Given the description of an element on the screen output the (x, y) to click on. 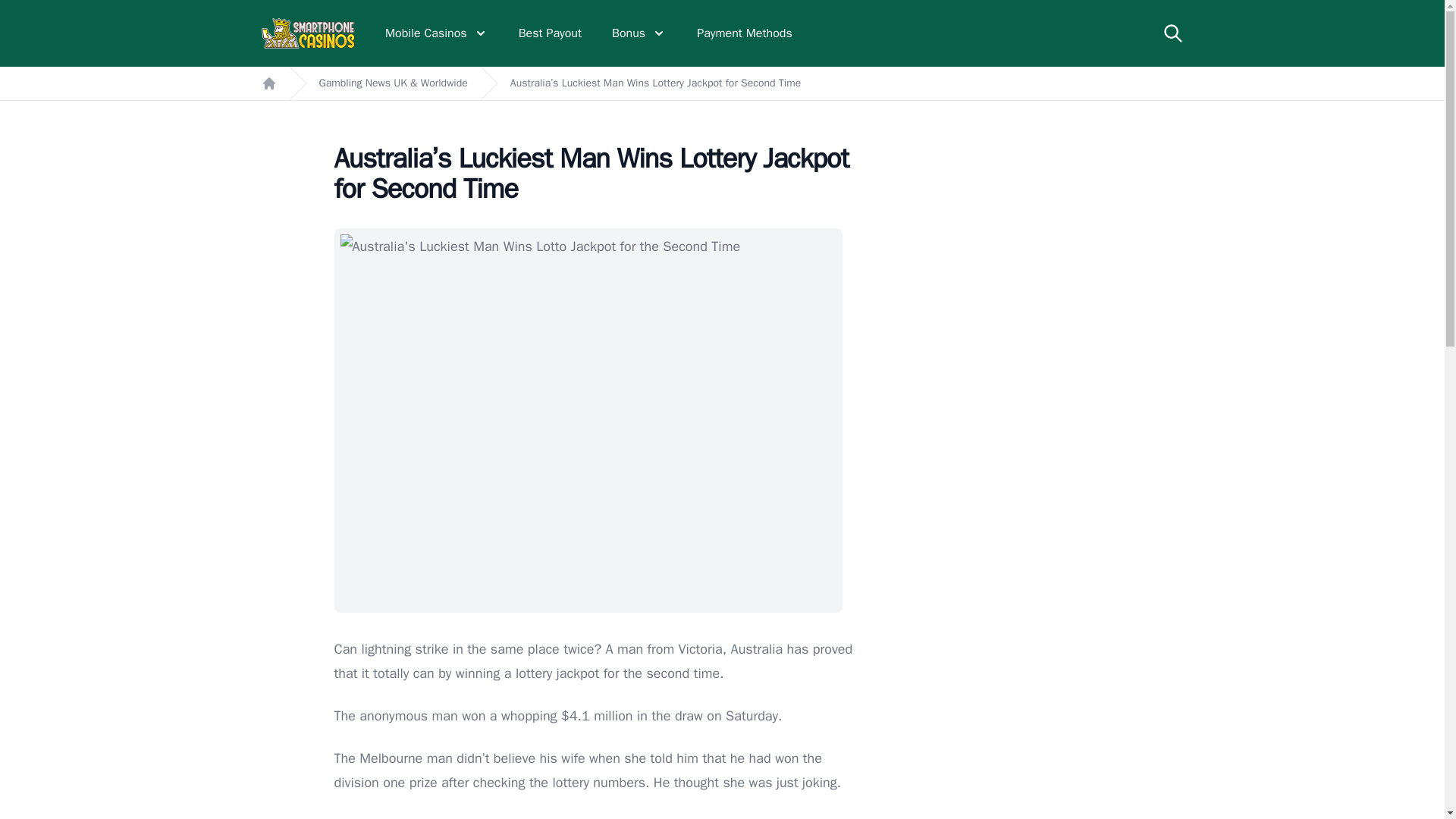
SmartphoneCasinos.co.uk (307, 33)
Mobile Casinos (436, 33)
Bonus (638, 33)
Payment Methods (744, 33)
SmartphoneCasinos.co.uk Logo (307, 33)
Best Payout (549, 33)
Home (268, 83)
